Given the description of an element on the screen output the (x, y) to click on. 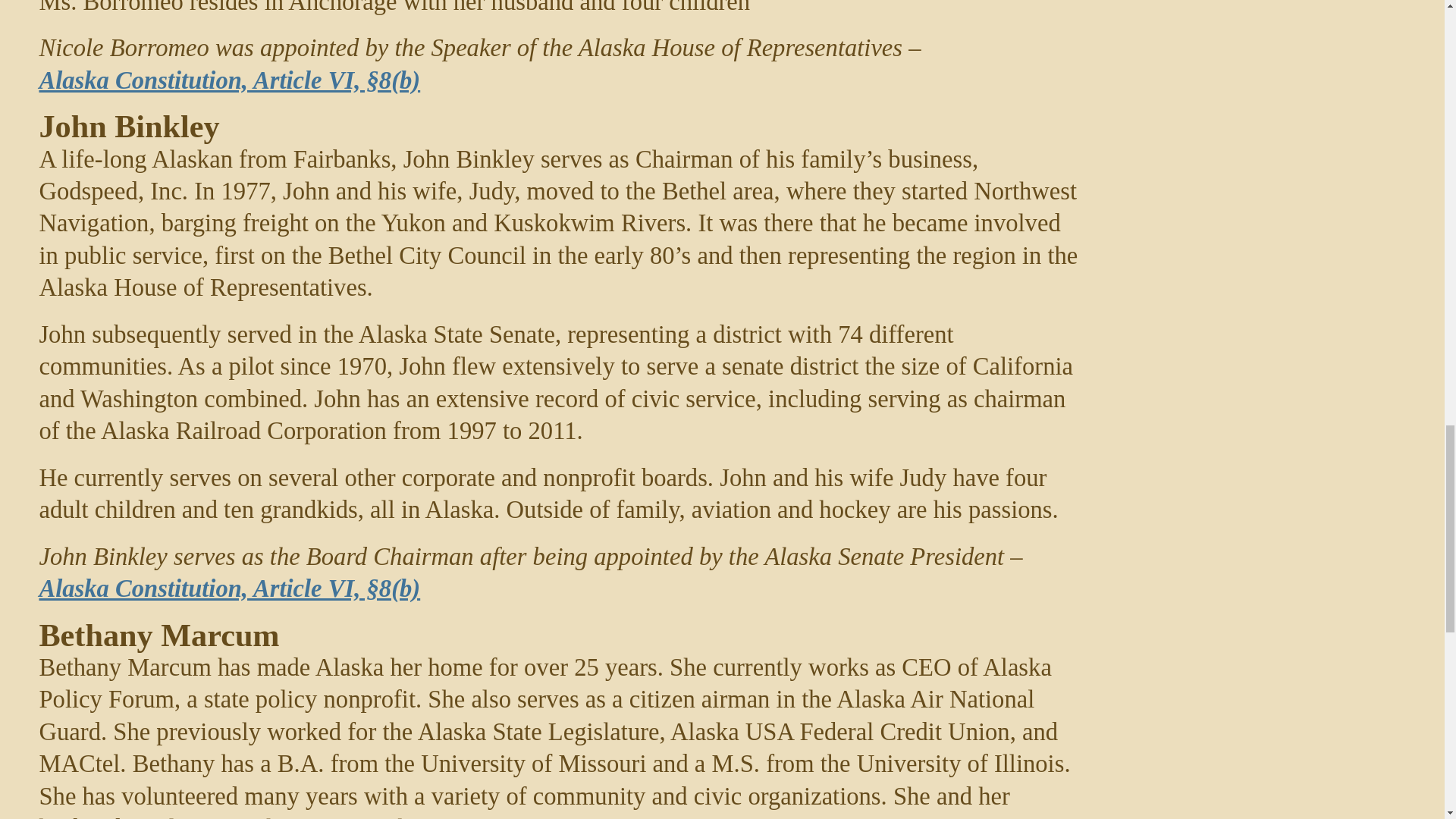
Governing Law (229, 80)
Governing Law (229, 587)
